Given the description of an element on the screen output the (x, y) to click on. 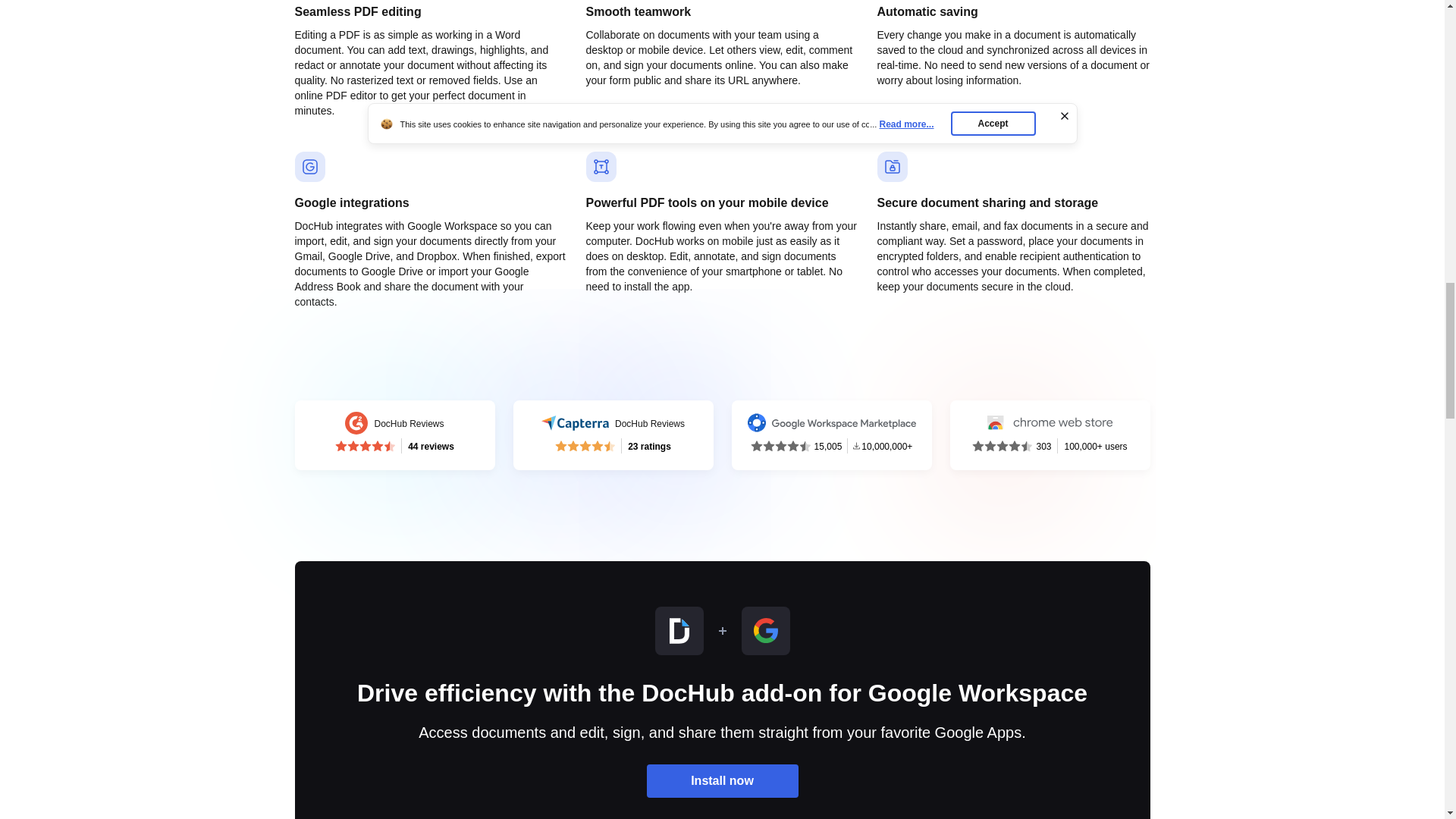
Install now (612, 435)
